Given the description of an element on the screen output the (x, y) to click on. 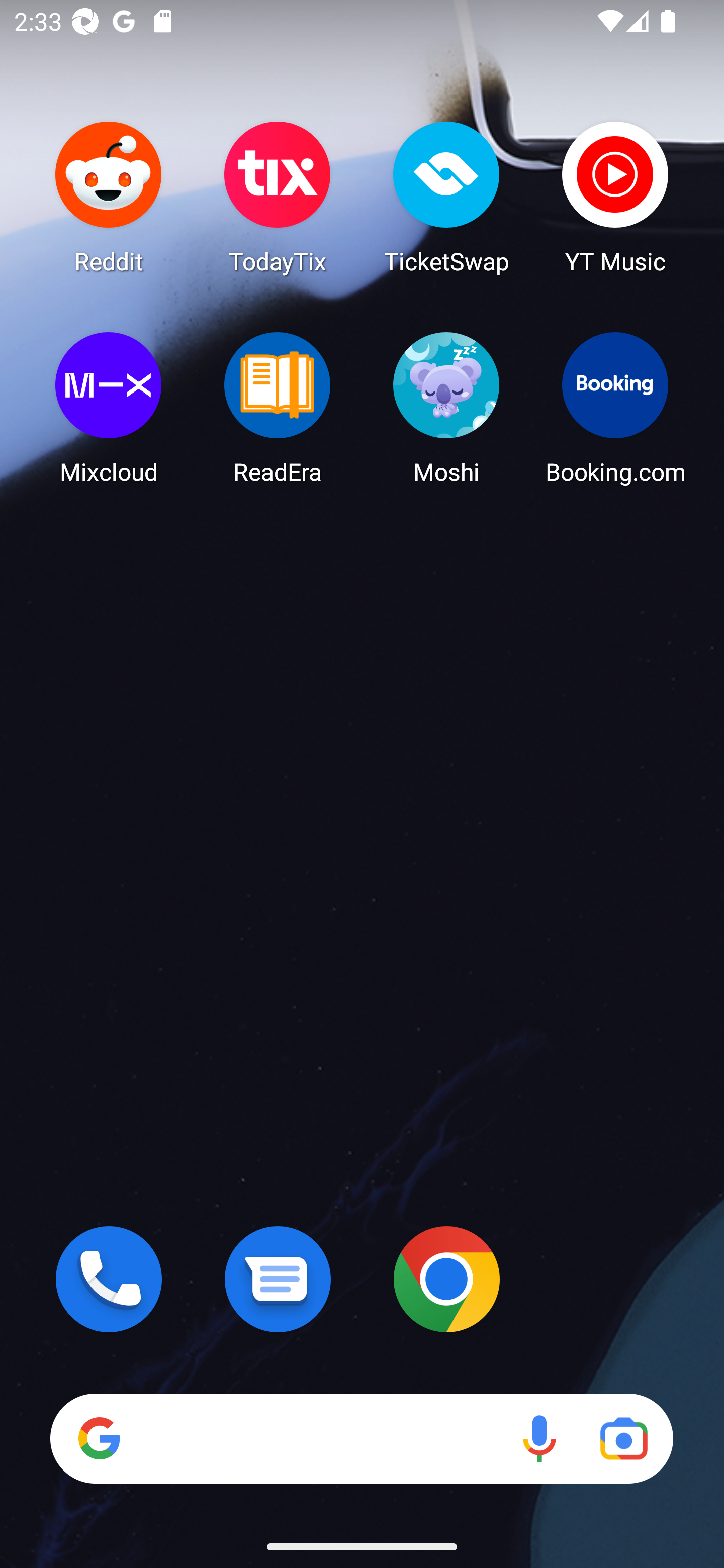
Reddit (108, 196)
TodayTix (277, 196)
TicketSwap (445, 196)
YT Music (615, 196)
Mixcloud (108, 407)
ReadEra (277, 407)
Moshi (445, 407)
Booking.com (615, 407)
Phone (108, 1279)
Messages (277, 1279)
Chrome (446, 1279)
Search Voice search Google Lens (361, 1438)
Voice search (539, 1438)
Google Lens (623, 1438)
